Given the description of an element on the screen output the (x, y) to click on. 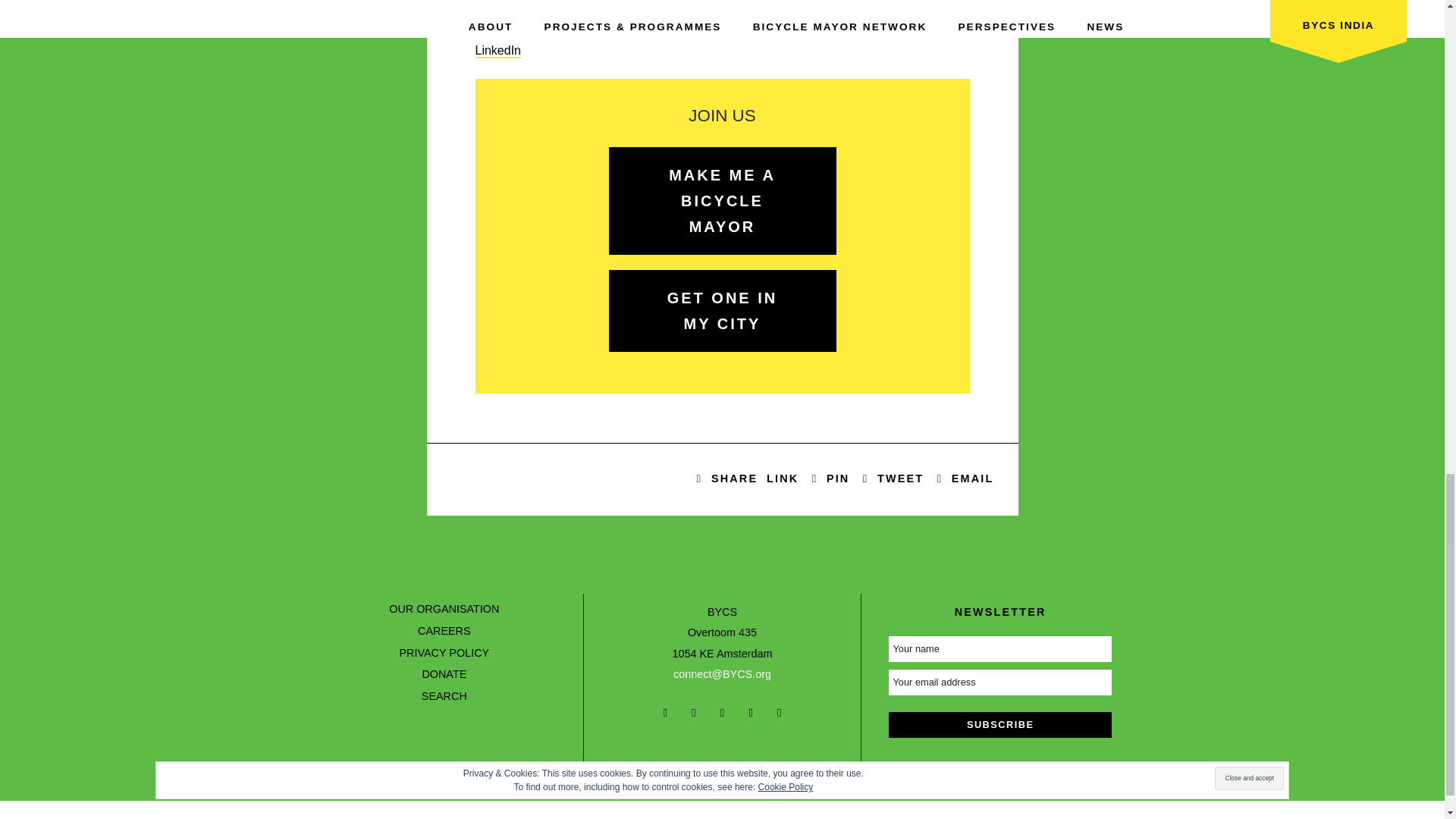
Instagram (501, 29)
Subscribe (999, 724)
PRIVACY POLICY (443, 653)
EMAIL (961, 478)
GET ONE IN MY CITY (721, 311)
Facebook (727, 478)
PIN (830, 478)
DONATE (443, 674)
OUR ORGANISATION (443, 608)
